Given the description of an element on the screen output the (x, y) to click on. 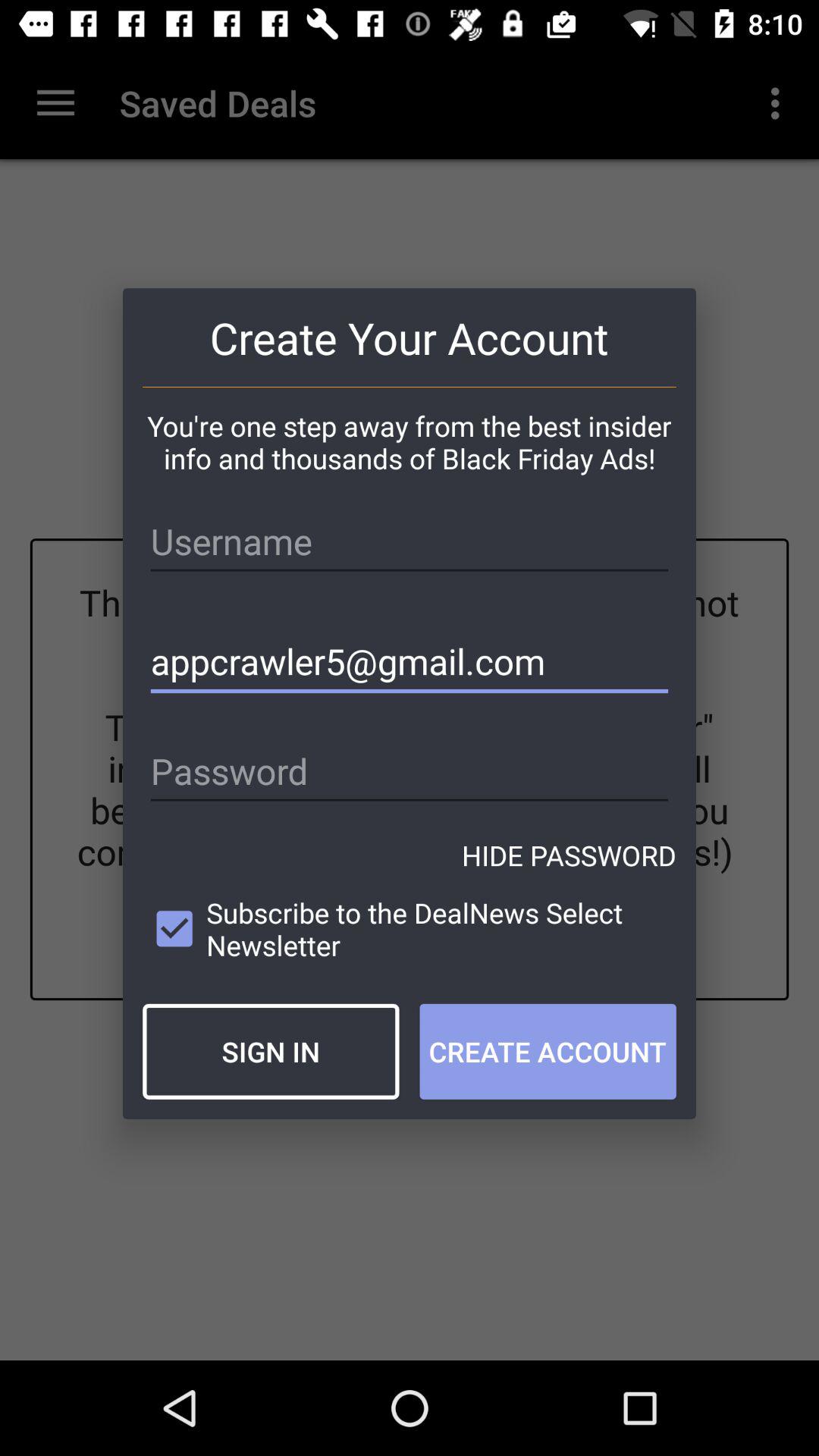
choose subscribe to the item (409, 929)
